Given the description of an element on the screen output the (x, y) to click on. 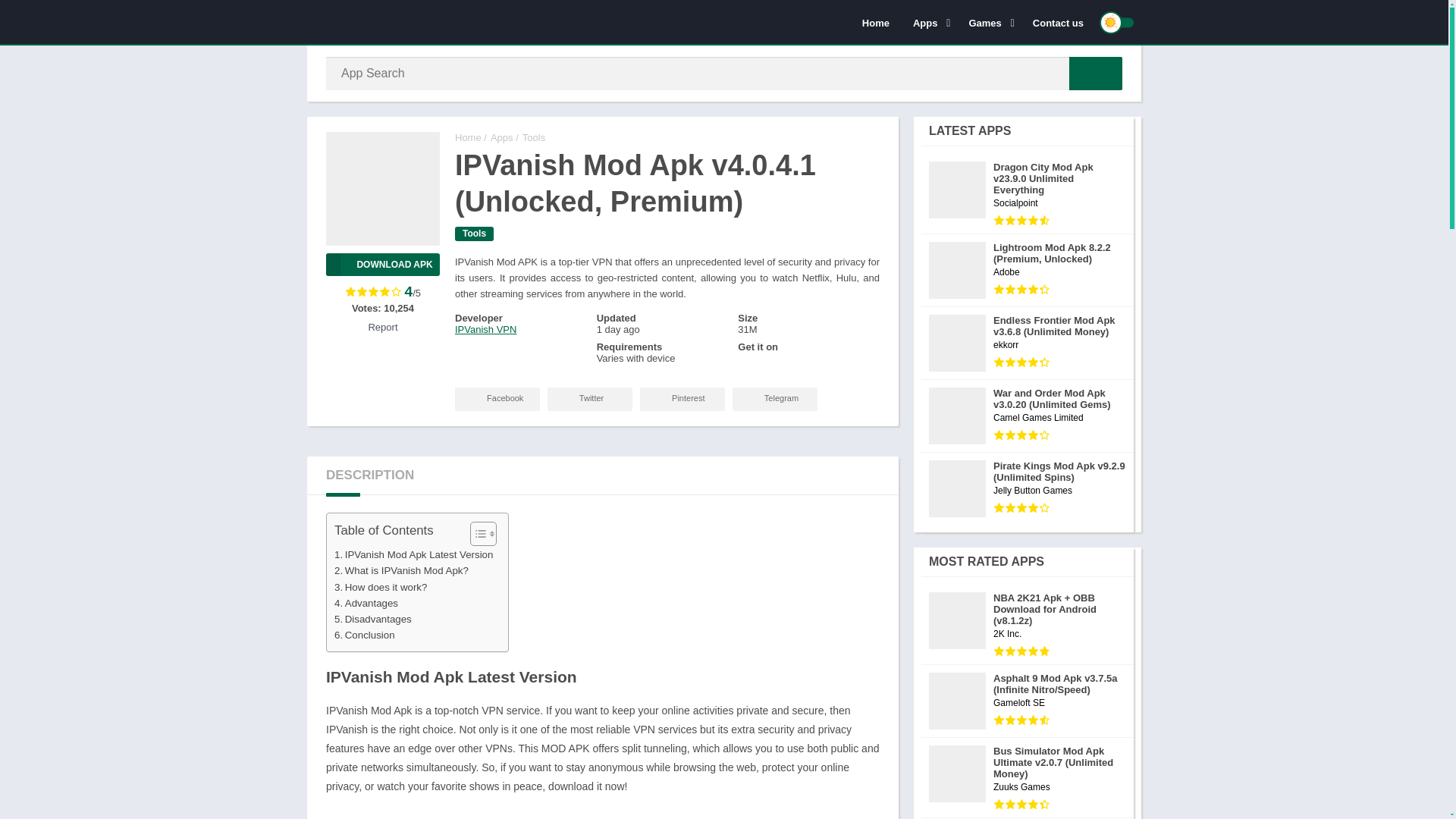
Apps (928, 22)
Download APK (382, 264)
Conclusion (364, 634)
App Search (1095, 73)
Disadvantages (373, 618)
What is IPVanish Mod Apk? (401, 570)
Advantages (365, 602)
Home (875, 22)
How does it work? (380, 587)
Games (988, 22)
IPVanish Mod Apk Latest Version (413, 554)
